Given the description of an element on the screen output the (x, y) to click on. 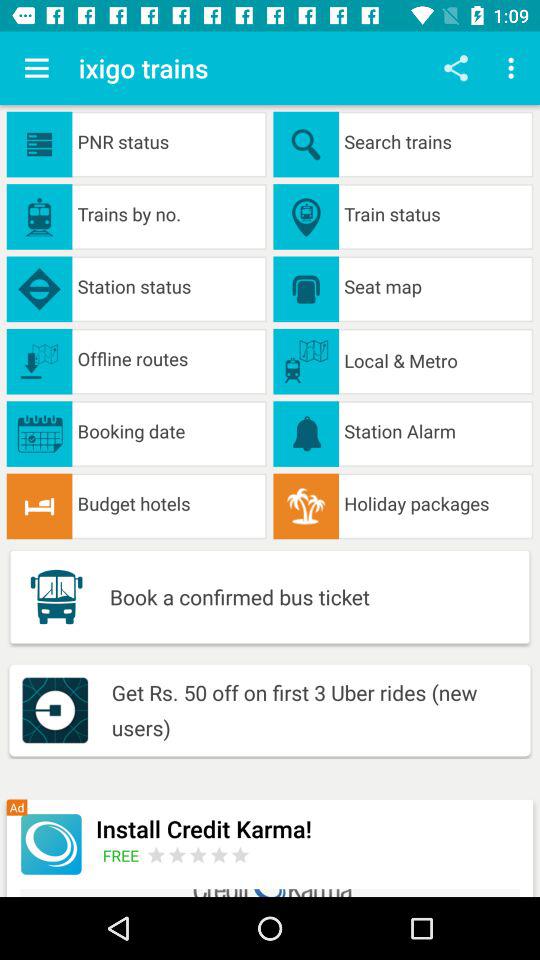
swipe until free icon (123, 855)
